Given the description of an element on the screen output the (x, y) to click on. 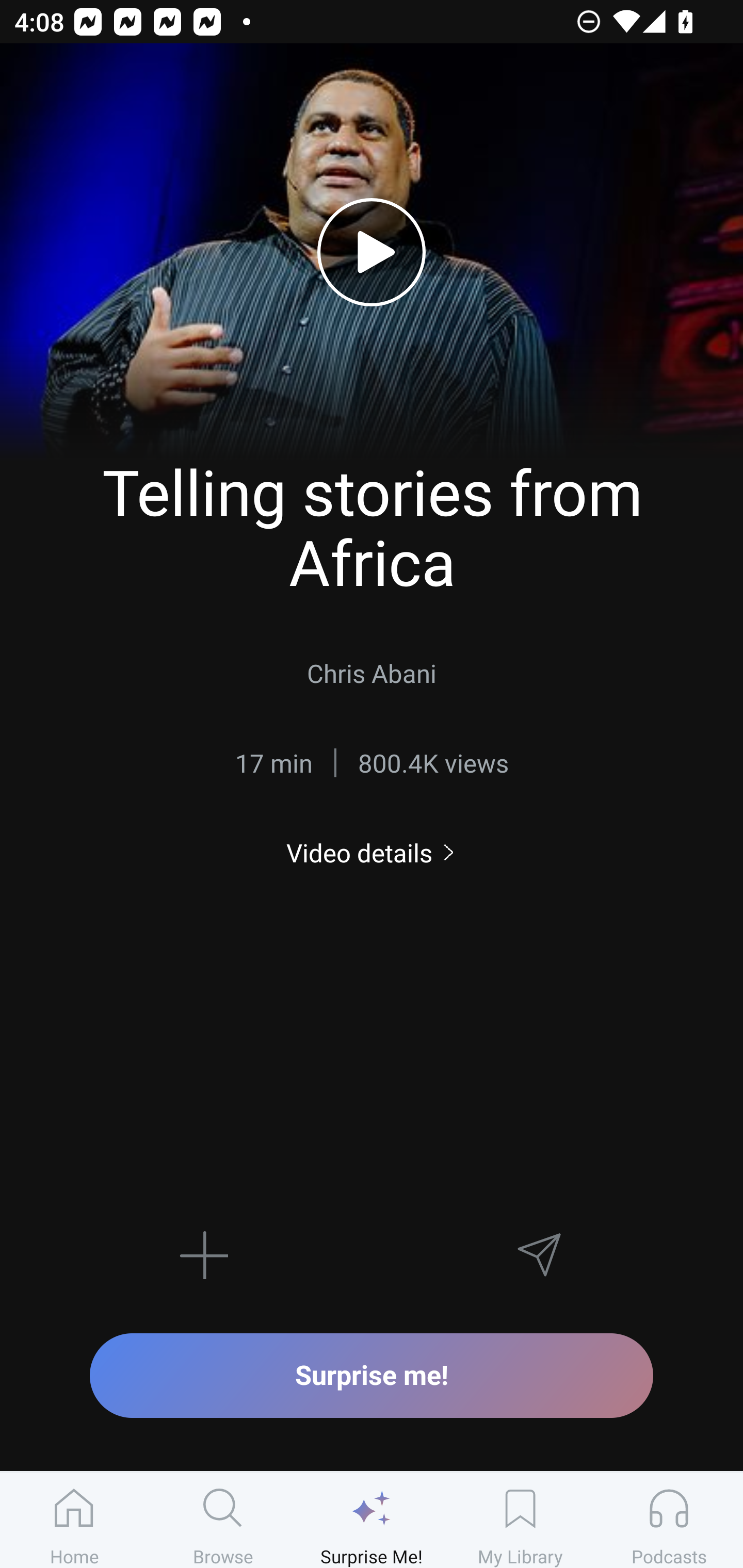
Video details (371, 852)
Surprise me! (371, 1374)
Home (74, 1520)
Browse (222, 1520)
Surprise Me! (371, 1520)
My Library (519, 1520)
Podcasts (668, 1520)
